Given the description of an element on the screen output the (x, y) to click on. 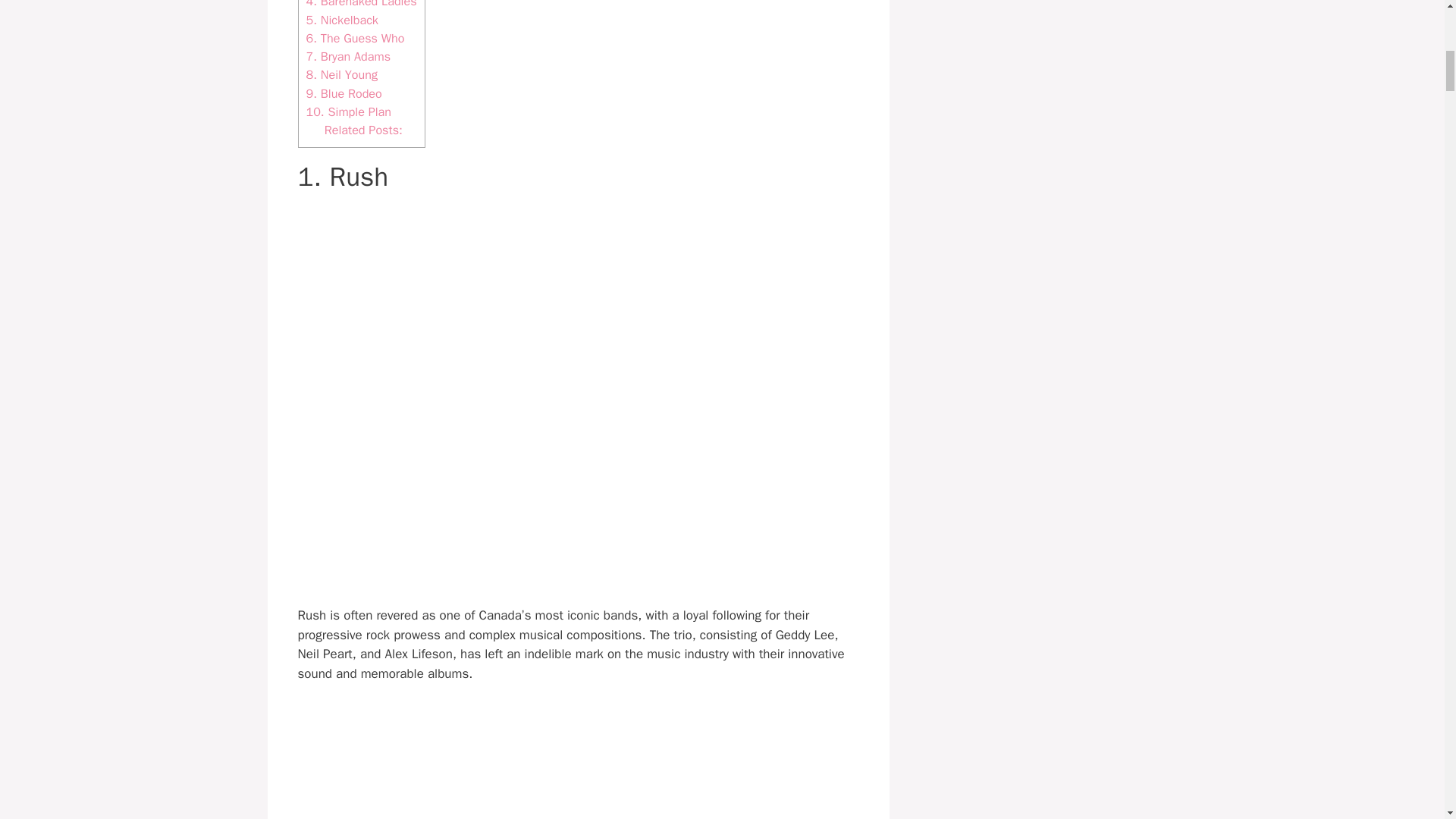
4. Barenaked Ladies (360, 4)
8. Neil Young (341, 74)
10. Simple Plan (348, 111)
Related Posts: (363, 130)
7. Bryan Adams (348, 56)
6. The Guess Who (354, 37)
5. Nickelback (341, 19)
9. Blue Rodeo (343, 93)
